Given the description of an element on the screen output the (x, y) to click on. 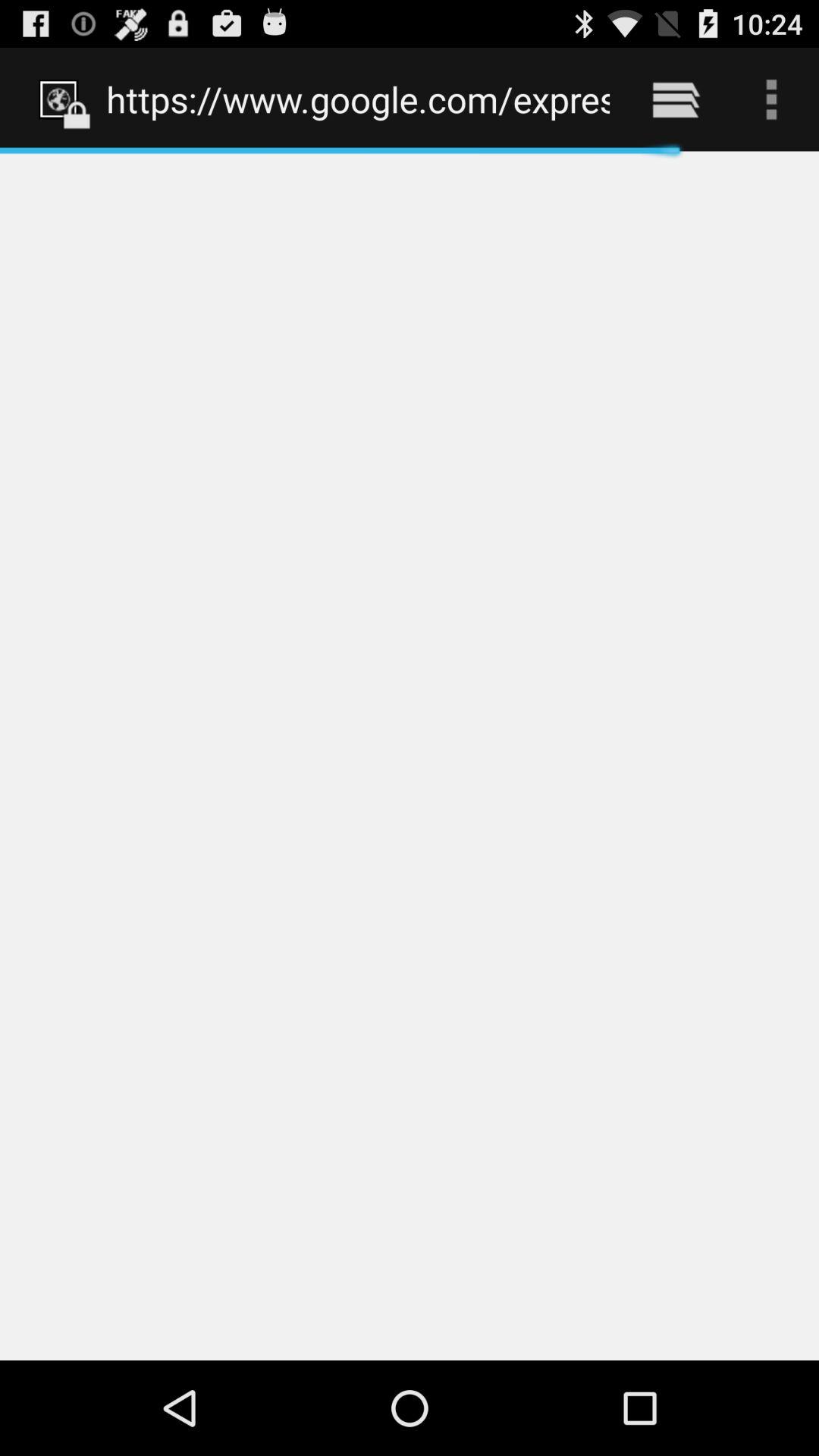
tap item below the https www google item (409, 755)
